Given the description of an element on the screen output the (x, y) to click on. 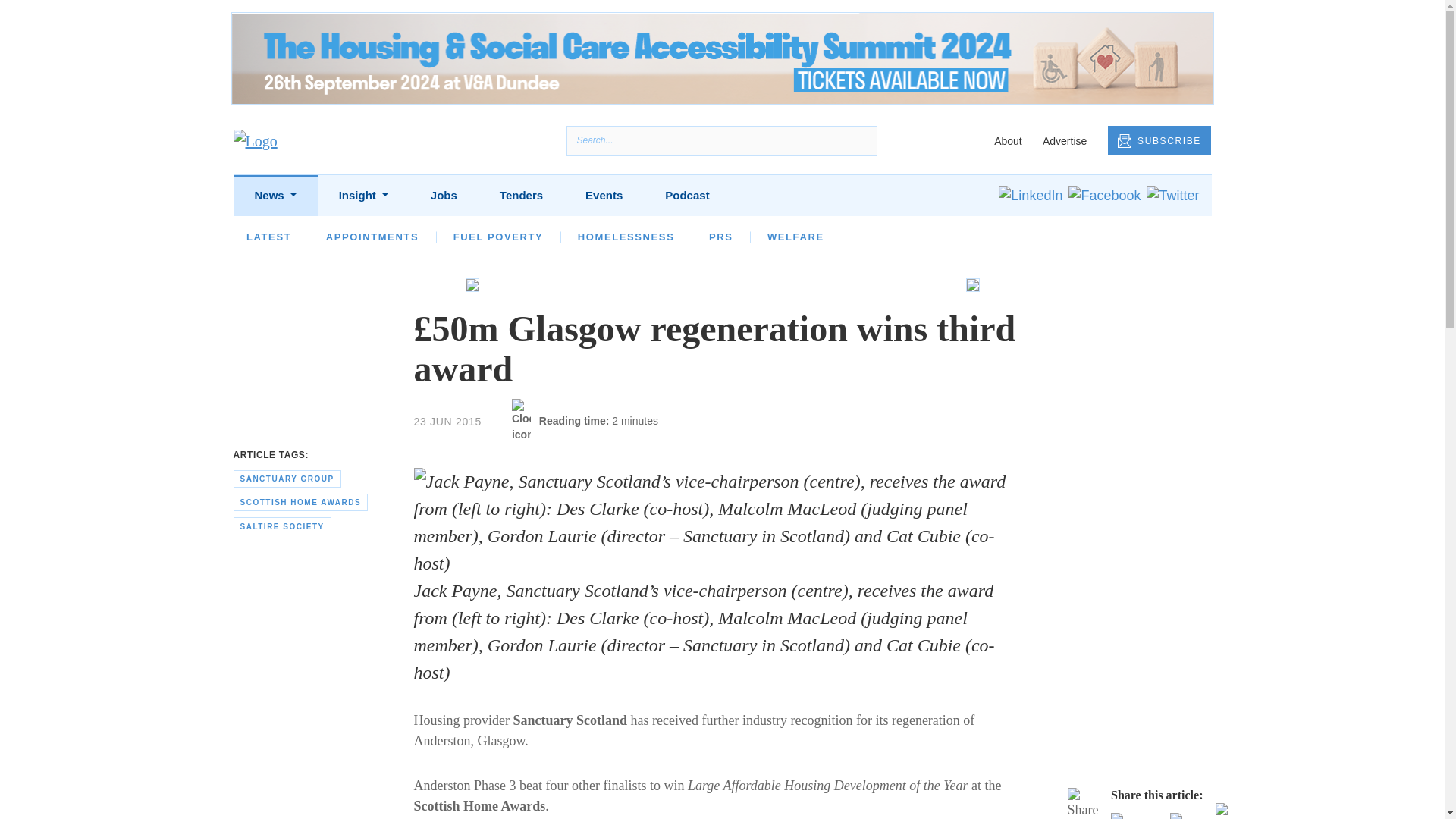
News (274, 196)
Insight (363, 196)
FUEL POVERTY (497, 236)
SUBSCRIBE (1158, 140)
Tenders (521, 196)
Podcast (686, 196)
INTERVIEWS (446, 236)
WELFARE (795, 236)
HOMELESSNESS (626, 236)
LATEST (268, 236)
APPOINTMENTS (372, 236)
SFHA TECH COLUMN (742, 236)
OUR HOUSING HERITAGE (1035, 236)
Events (603, 196)
Jobs (444, 196)
